Given the description of an element on the screen output the (x, y) to click on. 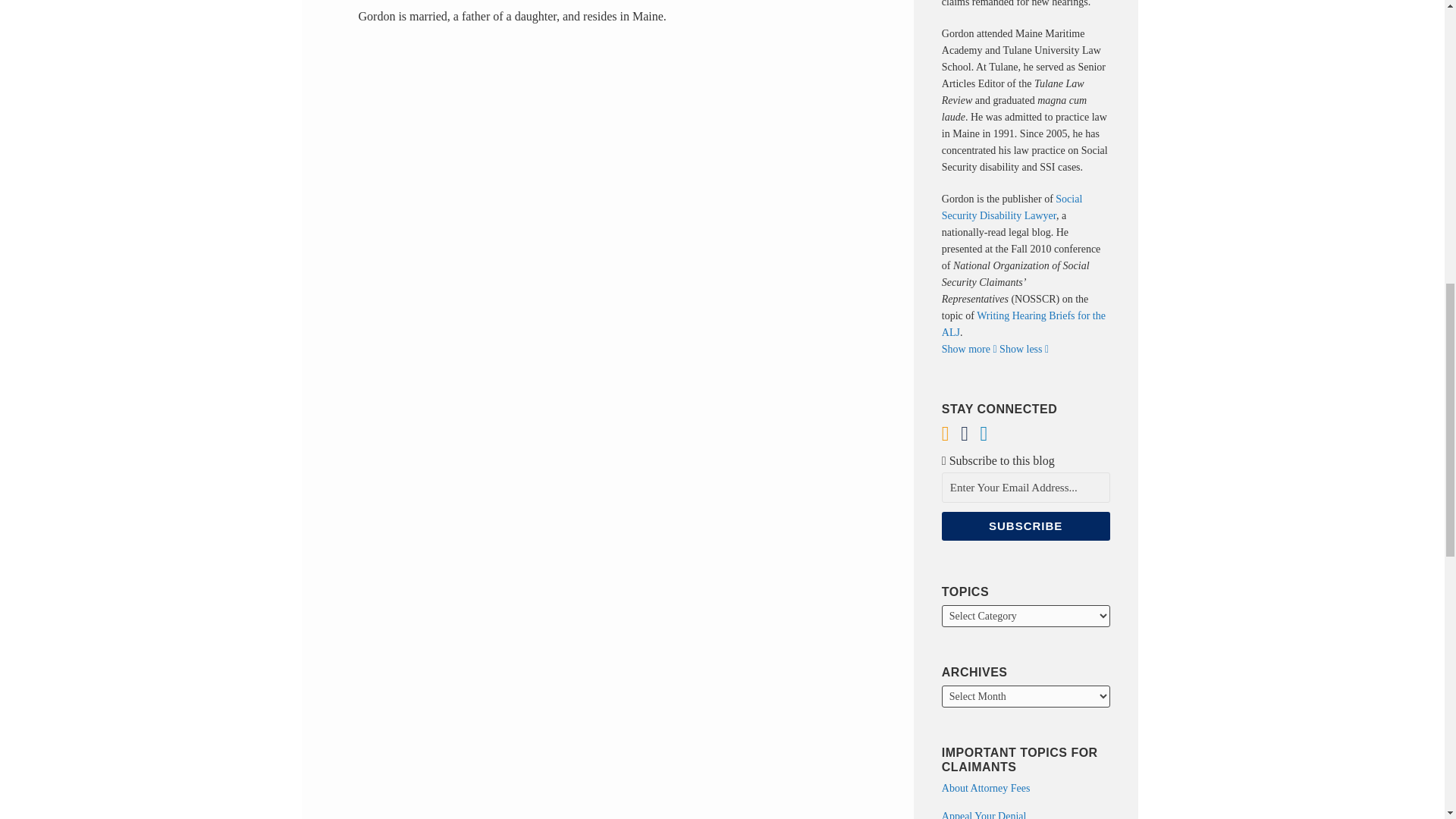
Show less (1023, 348)
Social Security Disability Lawyer (1011, 207)
Subscribe (1025, 525)
Subscribe (1025, 525)
About Attorney Fees (986, 787)
Show more (969, 348)
Writing Hearing Briefs for the ALJ (1023, 324)
Appeal Your Denial (984, 814)
